Given the description of an element on the screen output the (x, y) to click on. 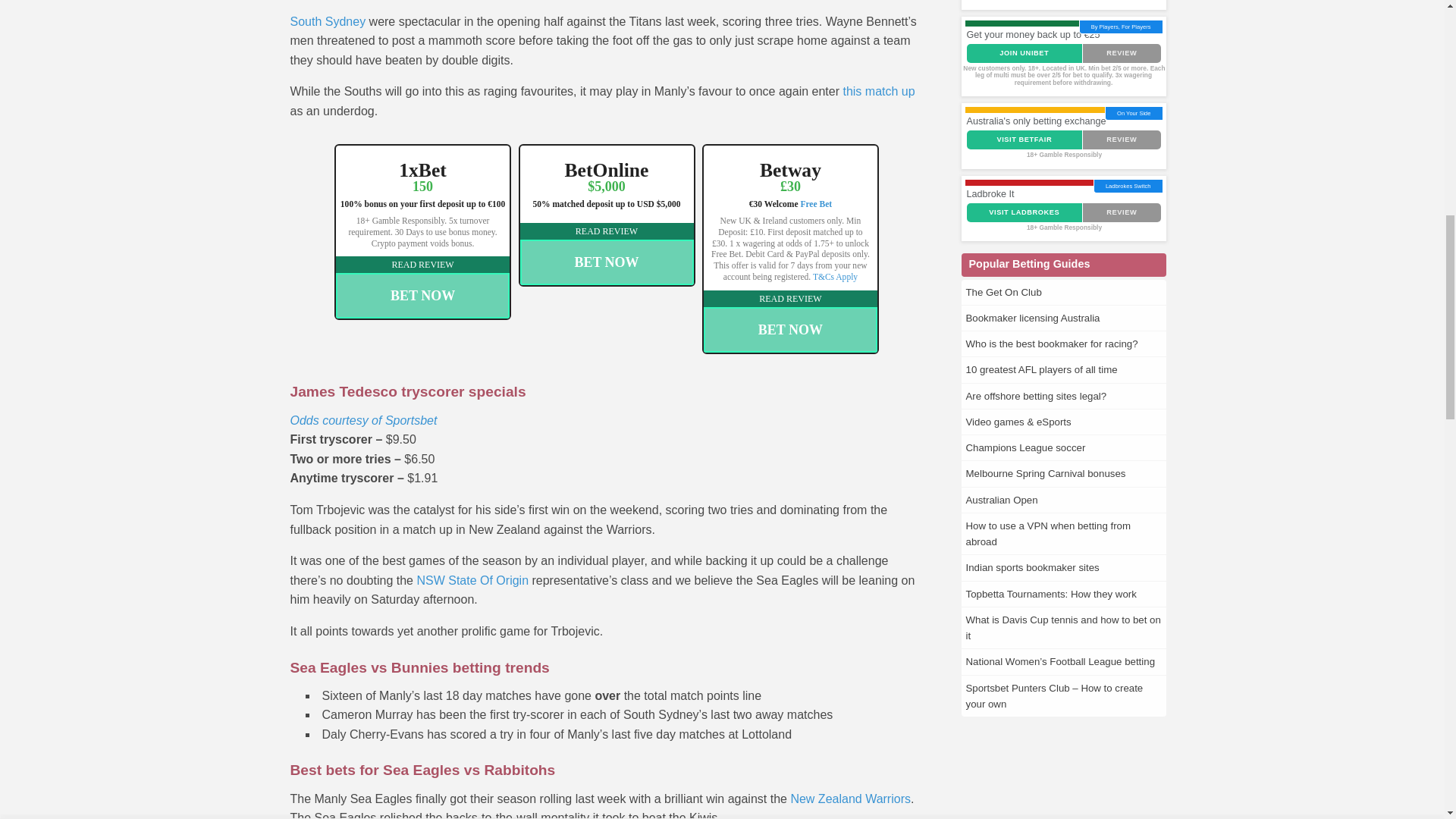
South Sydney (327, 21)
READ REVIEW (606, 230)
this match up (878, 91)
BET NOW (422, 295)
Free Bet (815, 203)
READ REVIEW (422, 264)
BET NOW (606, 262)
